Given the description of an element on the screen output the (x, y) to click on. 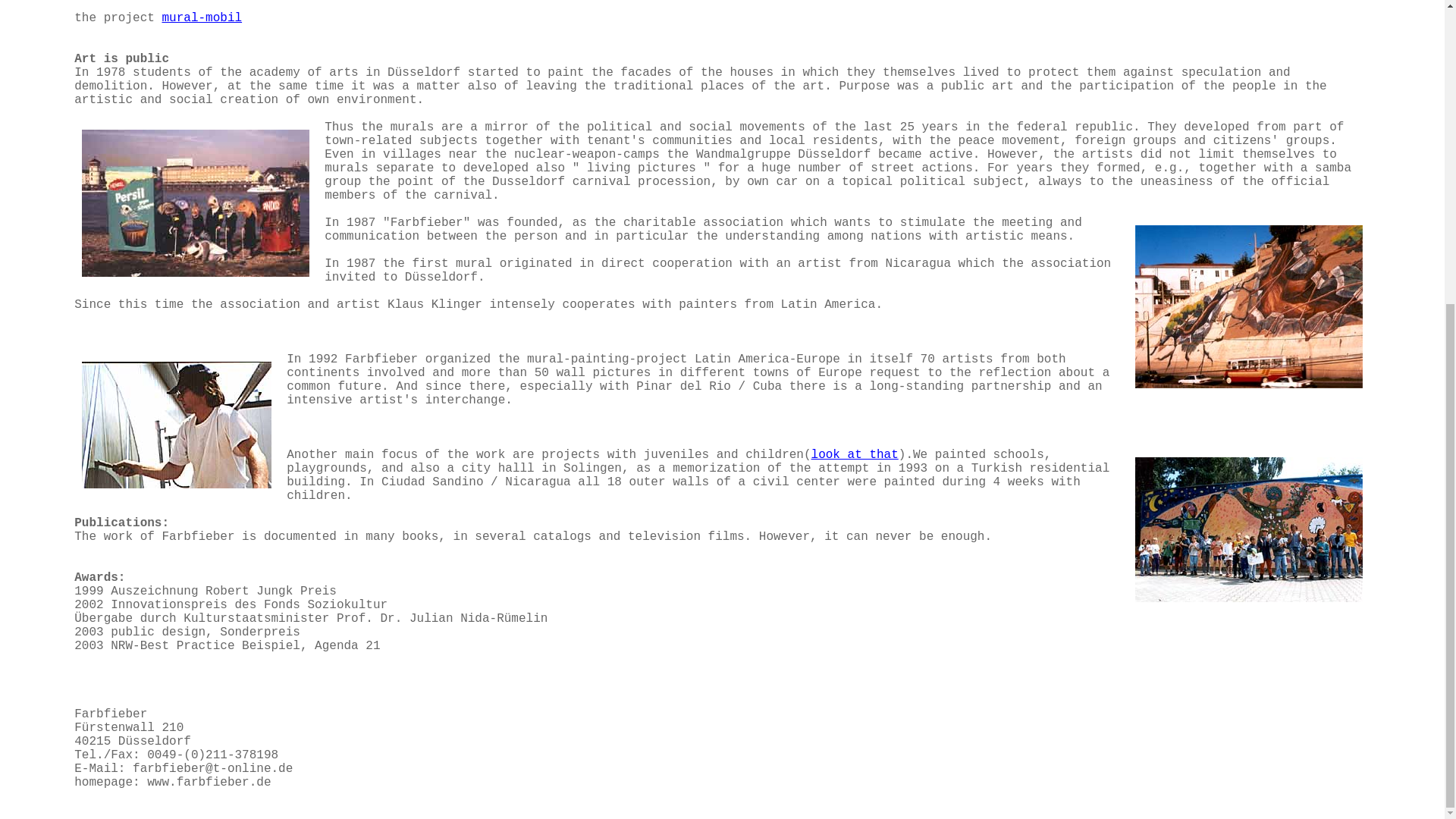
look at that (854, 454)
mural-mobil (201, 18)
www.farbfieber.de (208, 782)
